Given the description of an element on the screen output the (x, y) to click on. 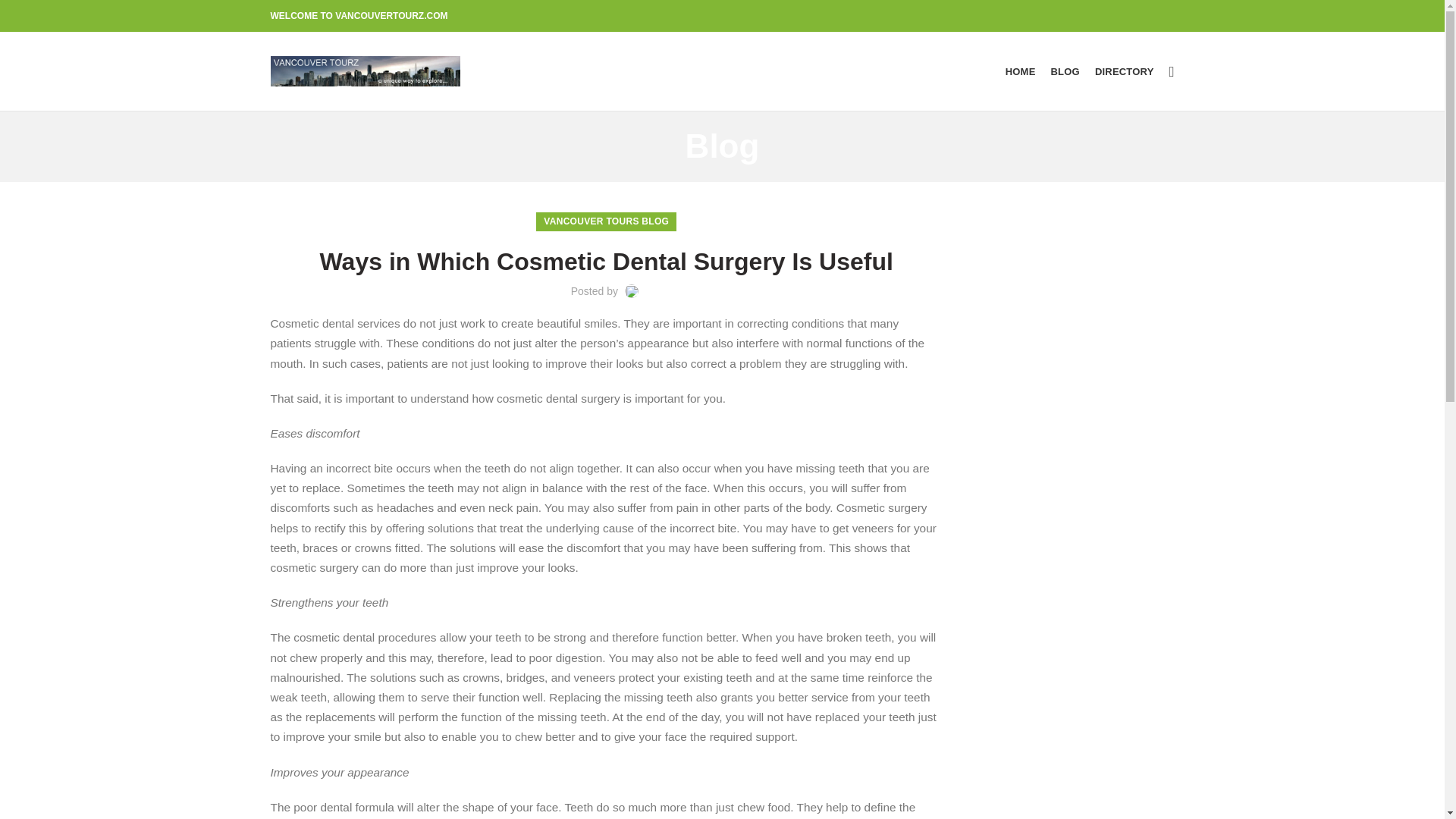
HOME (1020, 71)
BLOG (1065, 71)
VANCOUVER TOURS BLOG (605, 221)
DIRECTORY (1124, 71)
